Given the description of an element on the screen output the (x, y) to click on. 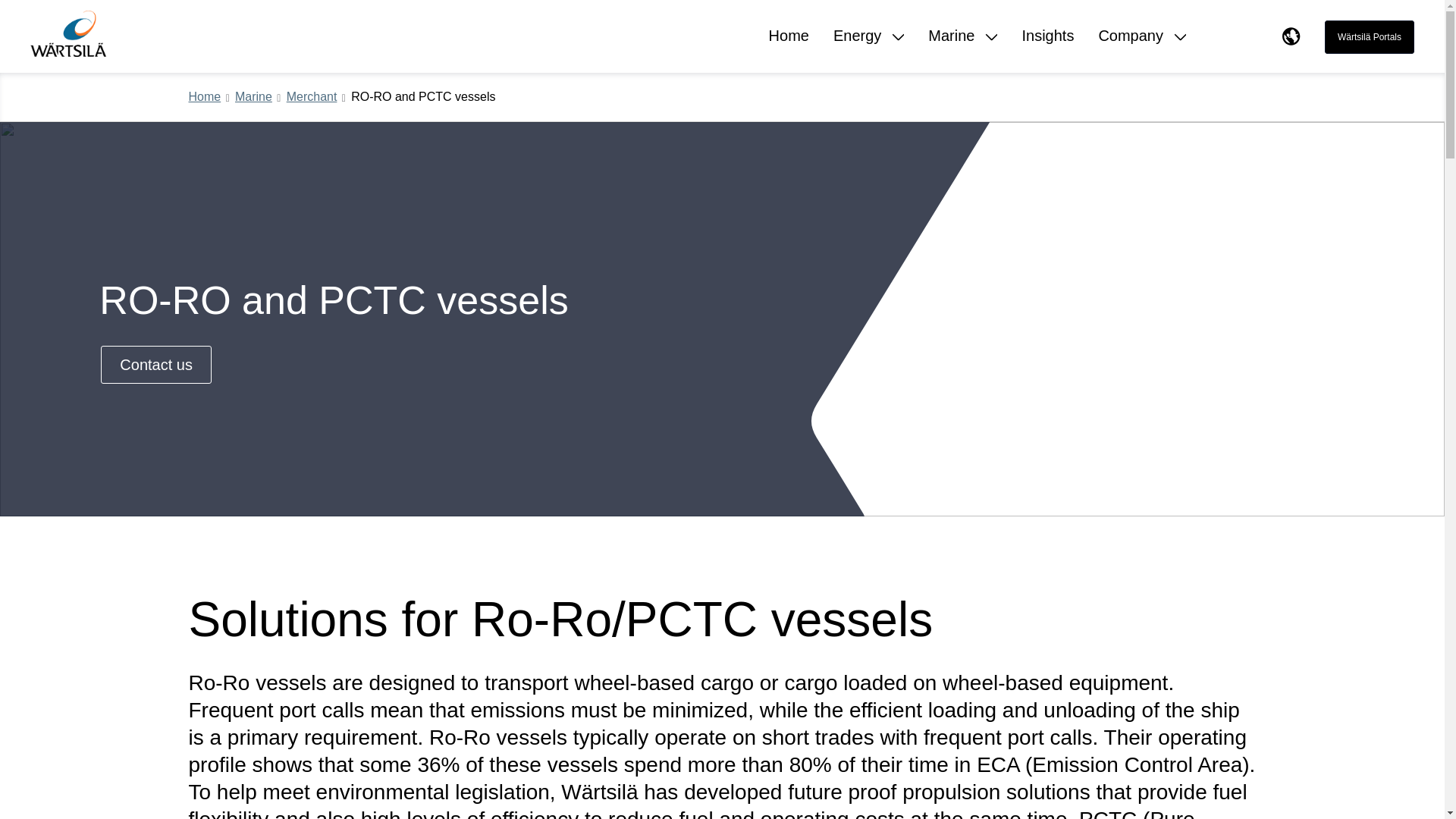
Marine (962, 48)
Insights (1048, 48)
Home (204, 96)
Select country (1291, 36)
Contact us (155, 364)
Home (788, 48)
Marine (253, 96)
Merchant (312, 96)
Company (1141, 48)
Energy (868, 48)
